Given the description of an element on the screen output the (x, y) to click on. 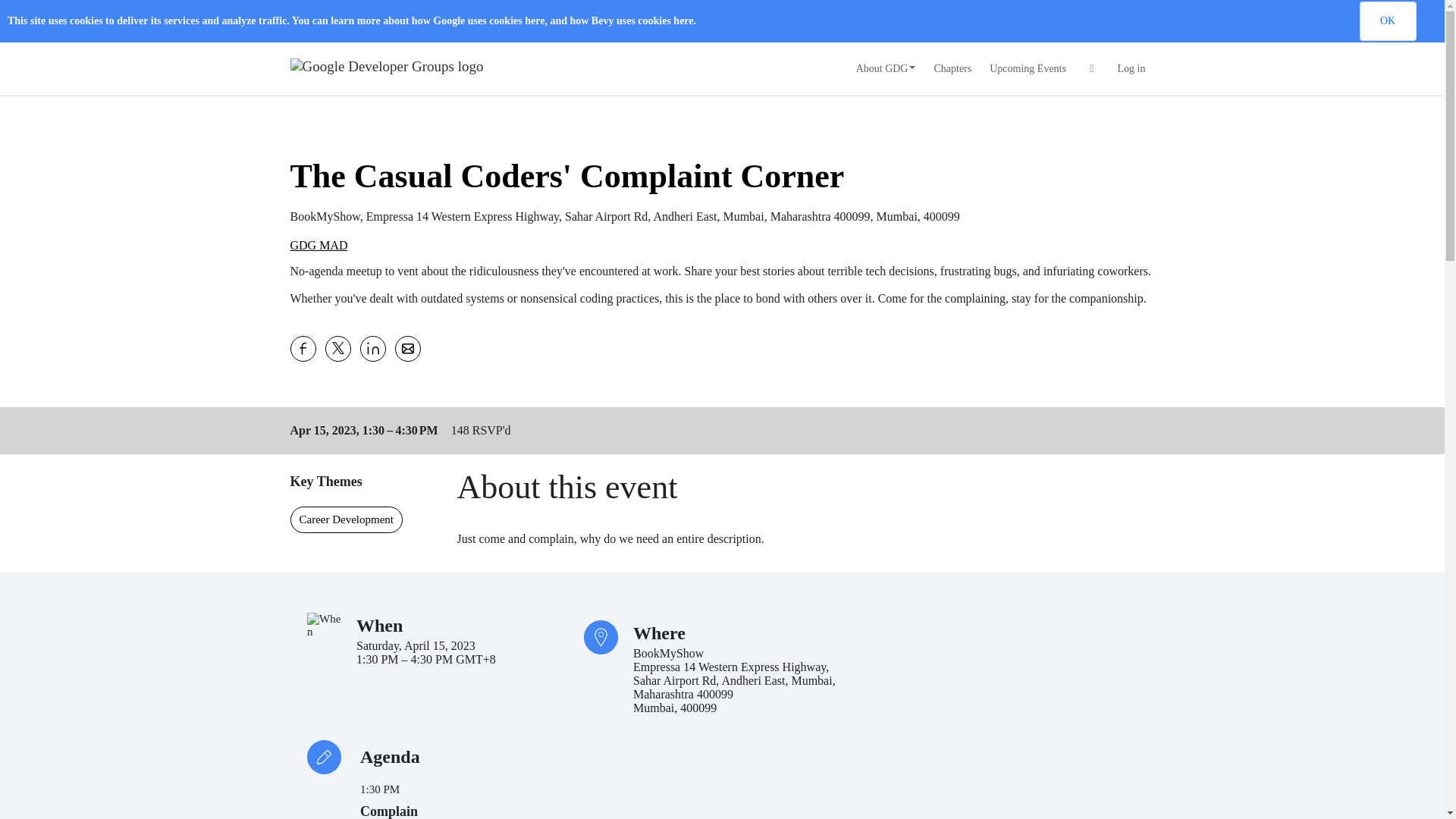
here (682, 20)
Log in (1131, 68)
Upcoming Events (1027, 68)
GDG MAD (318, 245)
Chapters (951, 68)
event map (973, 650)
OK (1386, 20)
About GDG (885, 68)
Career Development (346, 519)
here (534, 20)
